Given the description of an element on the screen output the (x, y) to click on. 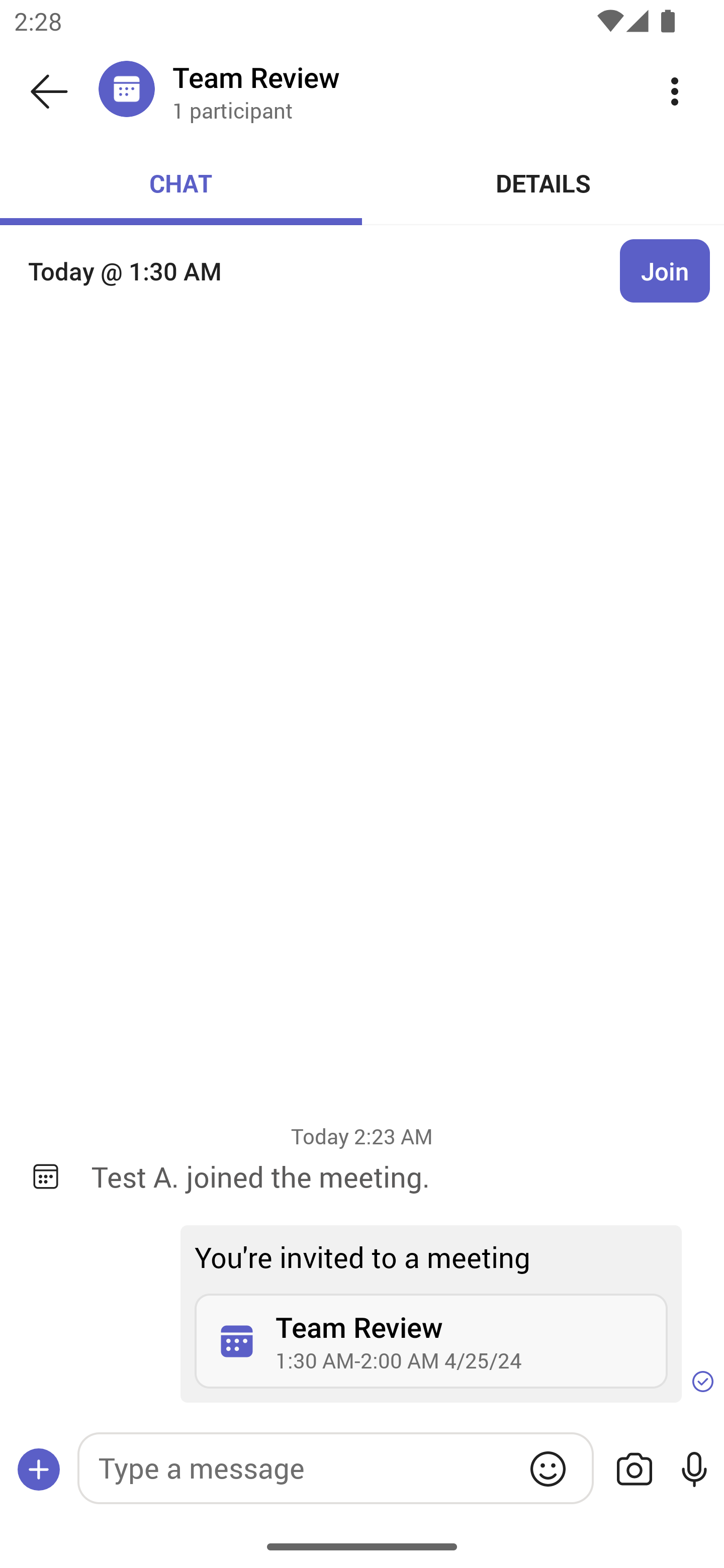
Back (49, 91)
More options (674, 90)
Team Review Team Review 1 participant (398, 90)
Details DETAILS (543, 183)
Join (664, 270)
Test A. joined the meeting. (393, 1175)
Compose options, collapsed (38, 1469)
Button for loading camera action functionality (633, 1469)
Type a message (335, 1467)
GIFs and emojis picker (548, 1468)
